Given the description of an element on the screen output the (x, y) to click on. 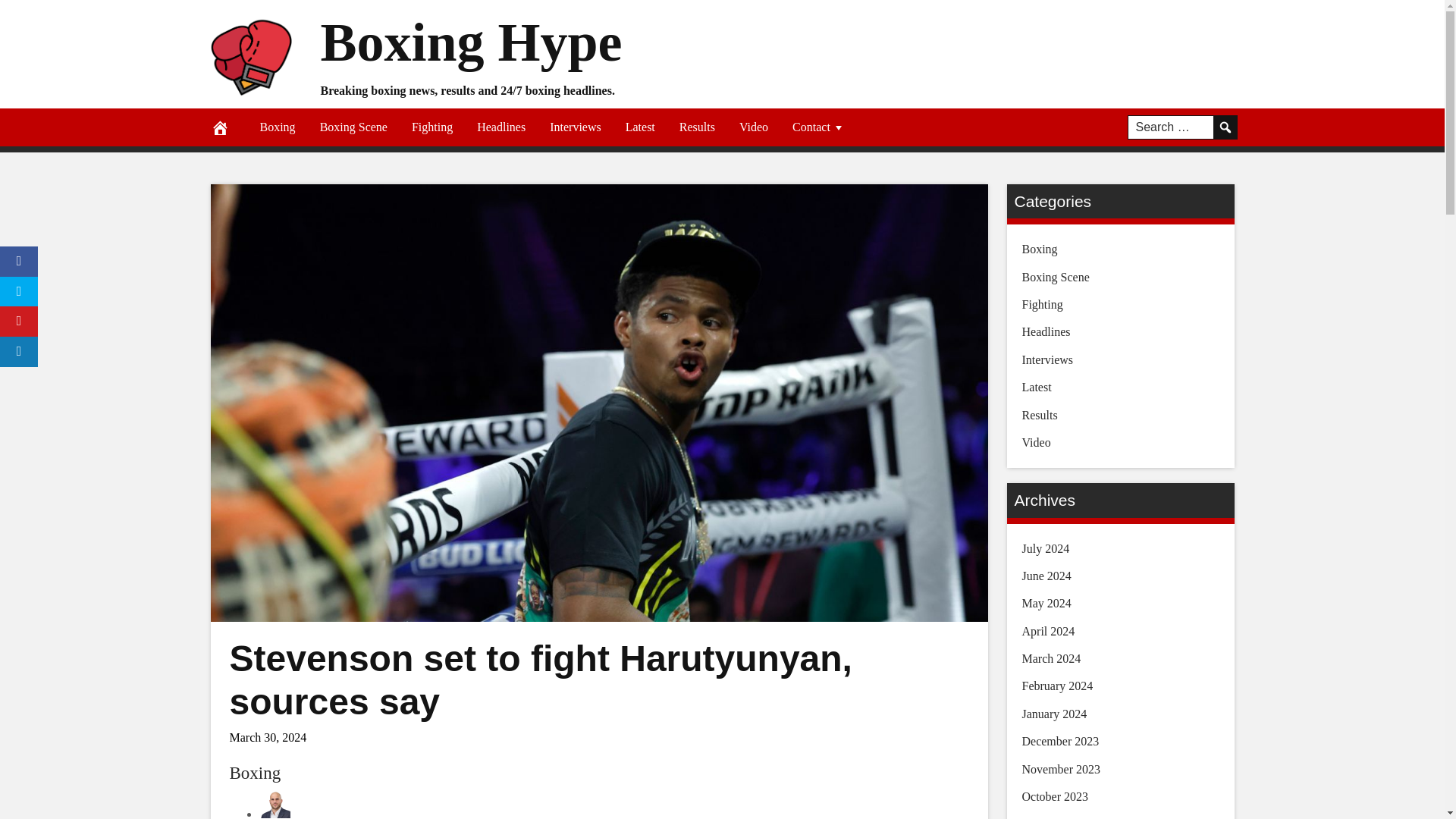
Boxing (254, 772)
Boxing Hype (470, 42)
Fighting (431, 127)
Headlines (500, 127)
Results (696, 127)
Latest (639, 127)
Video (753, 127)
Contact (818, 127)
Boxing Scene (352, 127)
Interviews (574, 127)
Boxing (277, 127)
